Given the description of an element on the screen output the (x, y) to click on. 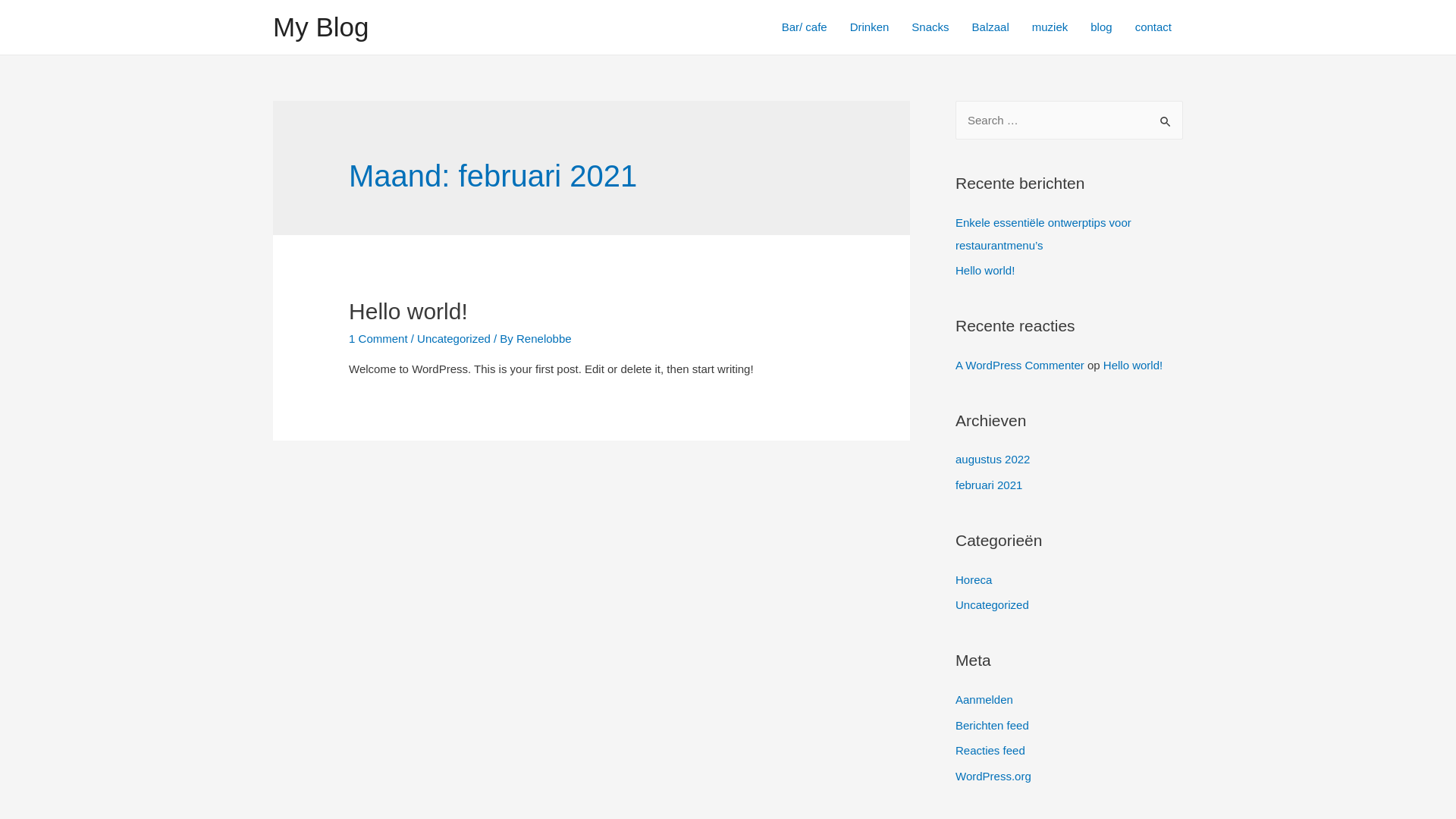
Drinken Element type: text (869, 26)
Uncategorized Element type: text (453, 338)
Bar/ cafe Element type: text (804, 26)
Hello world! Element type: text (1132, 364)
Hello world! Element type: text (984, 269)
Uncategorized Element type: text (992, 604)
februari 2021 Element type: text (988, 484)
Aanmelden Element type: text (984, 699)
1 Comment Element type: text (377, 338)
A WordPress Commenter Element type: text (1019, 364)
contact Element type: text (1153, 26)
WordPress.org Element type: text (993, 775)
Hello world! Element type: text (407, 310)
My Blog Element type: text (320, 26)
muziek Element type: text (1049, 26)
augustus 2022 Element type: text (992, 458)
Balzaal Element type: text (990, 26)
Renelobbe Element type: text (543, 338)
Berichten feed Element type: text (992, 724)
Search Element type: text (1165, 115)
blog Element type: text (1101, 26)
Snacks Element type: text (930, 26)
Reacties feed Element type: text (990, 749)
Horeca Element type: text (973, 579)
